Given the description of an element on the screen output the (x, y) to click on. 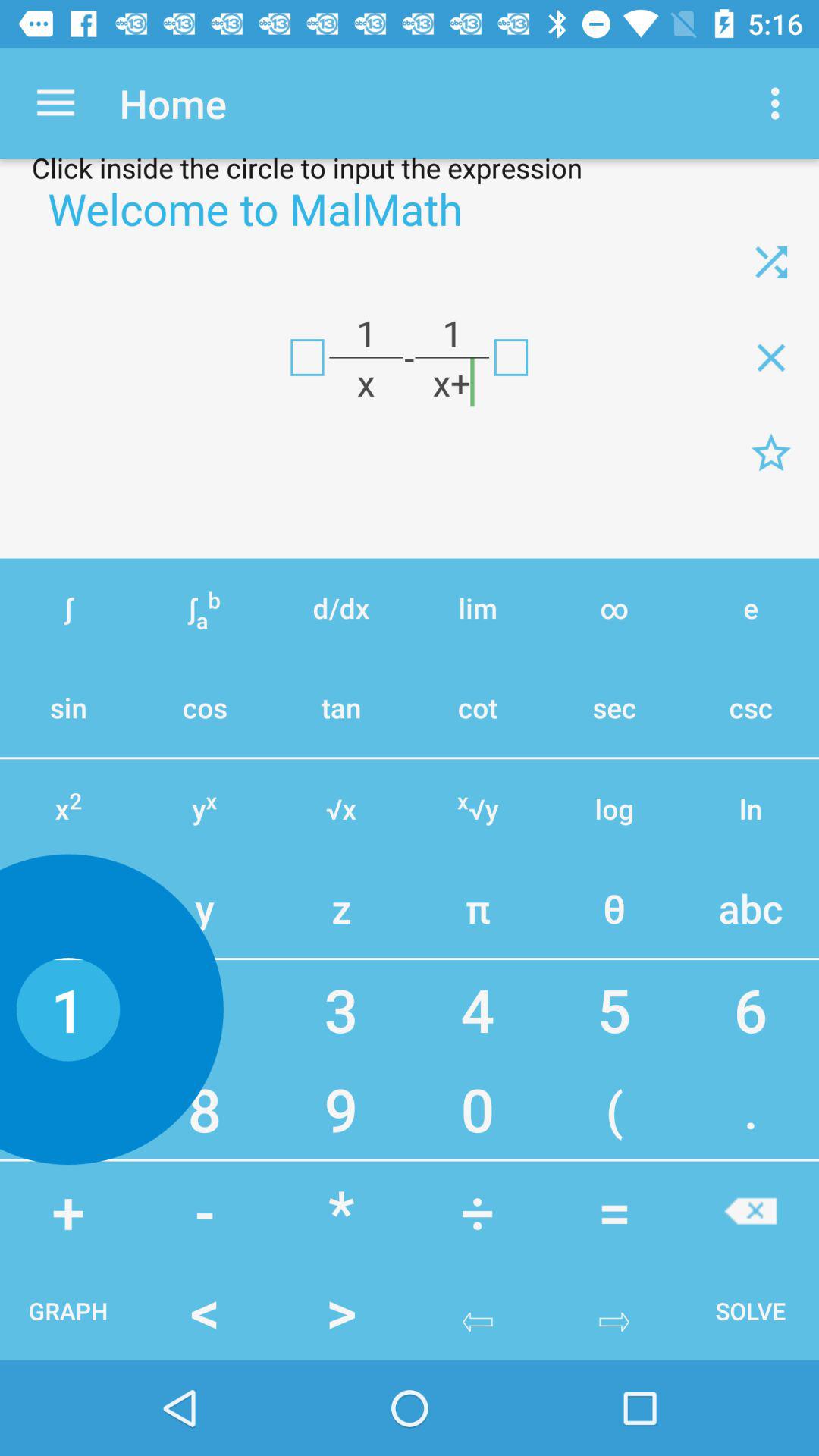
refeet option (771, 261)
